Given the description of an element on the screen output the (x, y) to click on. 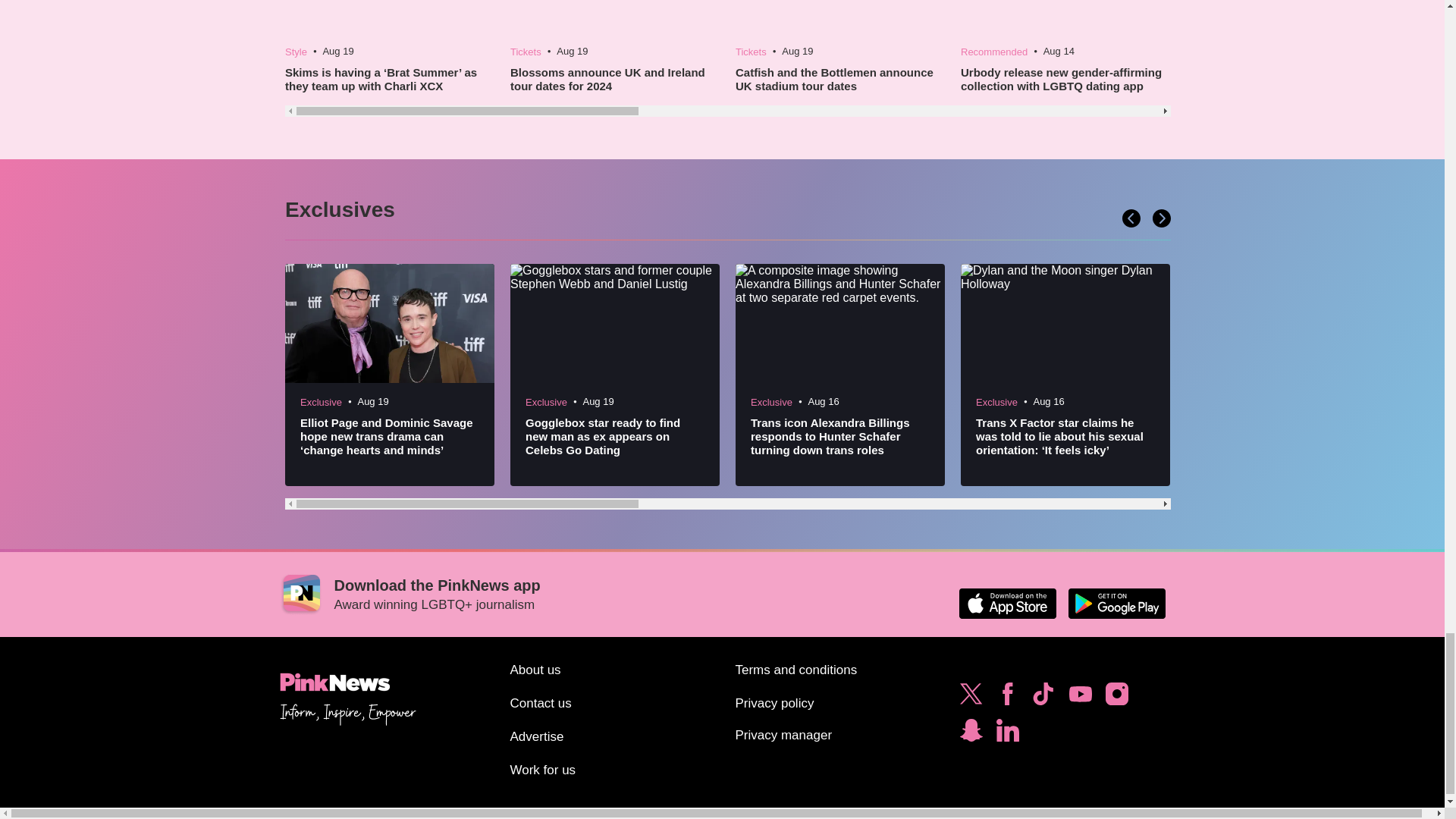
Subscribe to PinkNews on Snapchat (970, 733)
Follow PinkNews on TikTok (1042, 697)
Follow PinkNews on Twitter (970, 697)
Subscribe to PinkNews on YouTube (1079, 697)
Download the PinkNews app on Google Play (1115, 603)
Follow PinkNews on LinkedIn (1007, 733)
Download the PinkNews app on the Apple App Store (1006, 603)
Follow PinkNews on Instagram (1116, 697)
